Given the description of an element on the screen output the (x, y) to click on. 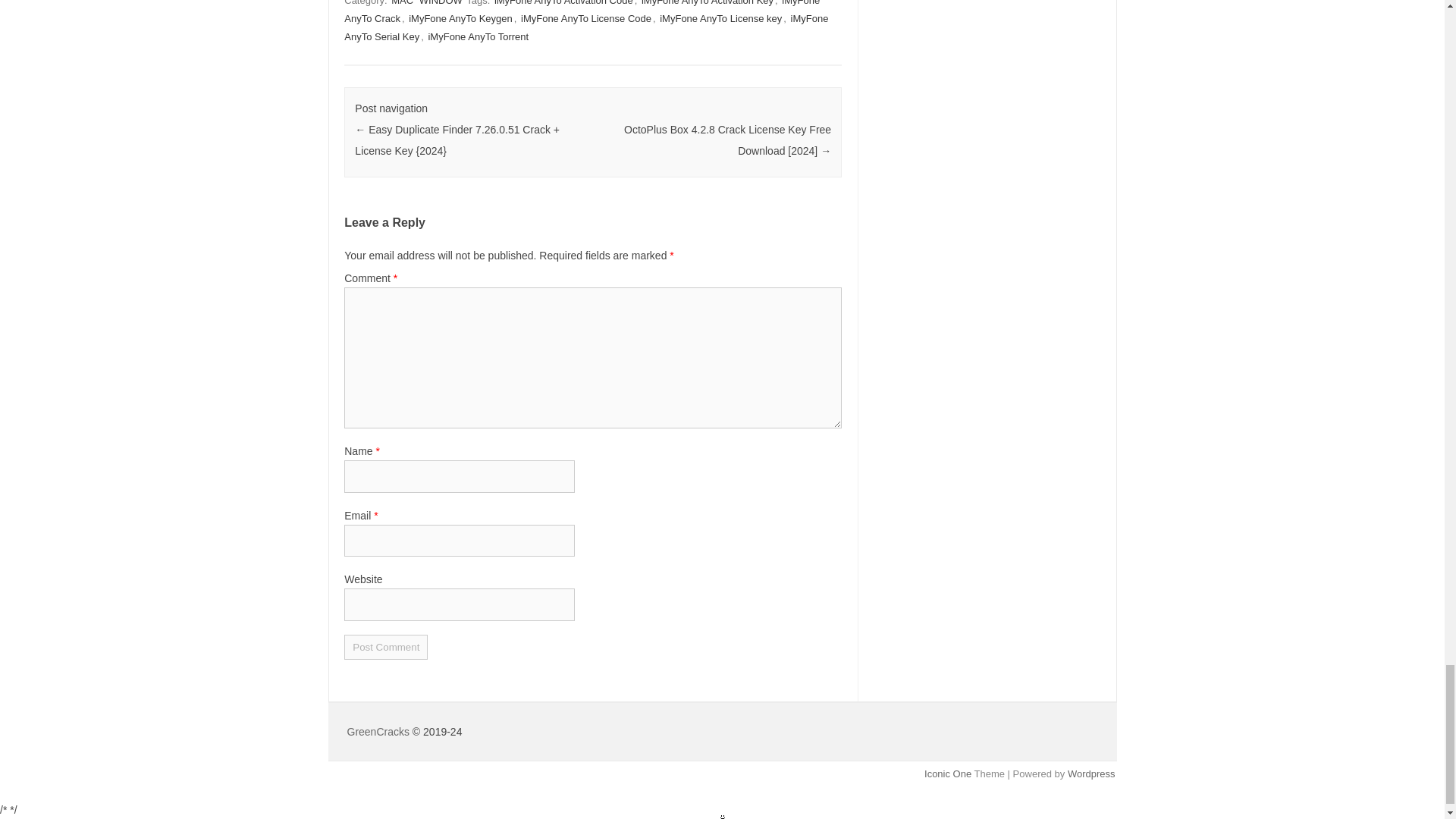
iMyFone AnyTo Torrent (477, 36)
WINDOW (440, 3)
iMyFone AnyTo Serial Key (585, 27)
MAC (402, 3)
iMyFone AnyTo License key (720, 18)
iMyFone AnyTo Keygen (460, 18)
iMyFone AnyTo License Code (585, 18)
iMyFone AnyTo Activation Key (707, 3)
Post Comment (385, 647)
iMyFone AnyTo Crack (581, 12)
